Given the description of an element on the screen output the (x, y) to click on. 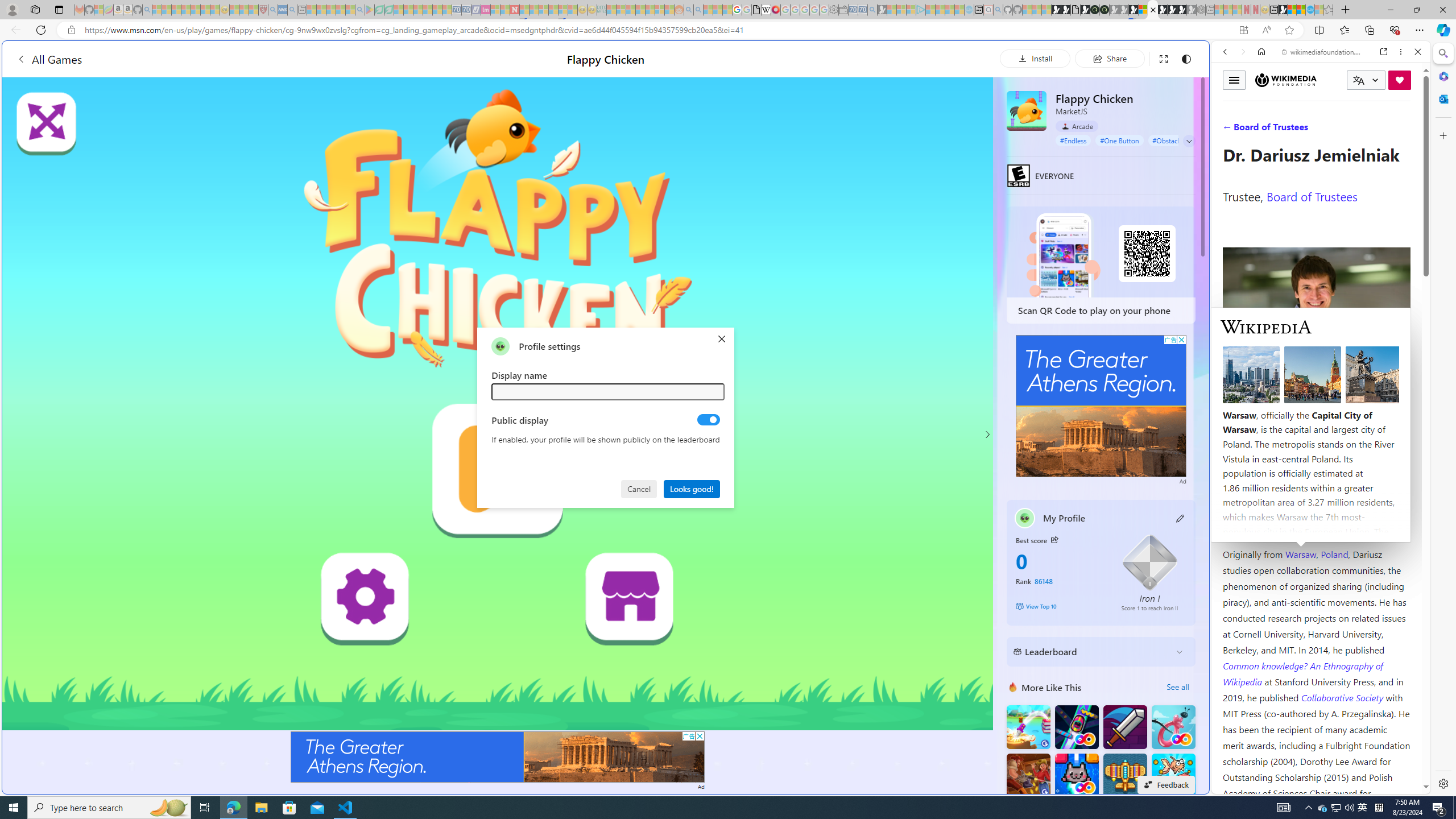
Class: text-input (608, 391)
Search Filter, WEB (1230, 129)
Share (1109, 58)
Change to dark mode (1185, 58)
See all (1177, 687)
Install (1034, 58)
